Given the description of an element on the screen output the (x, y) to click on. 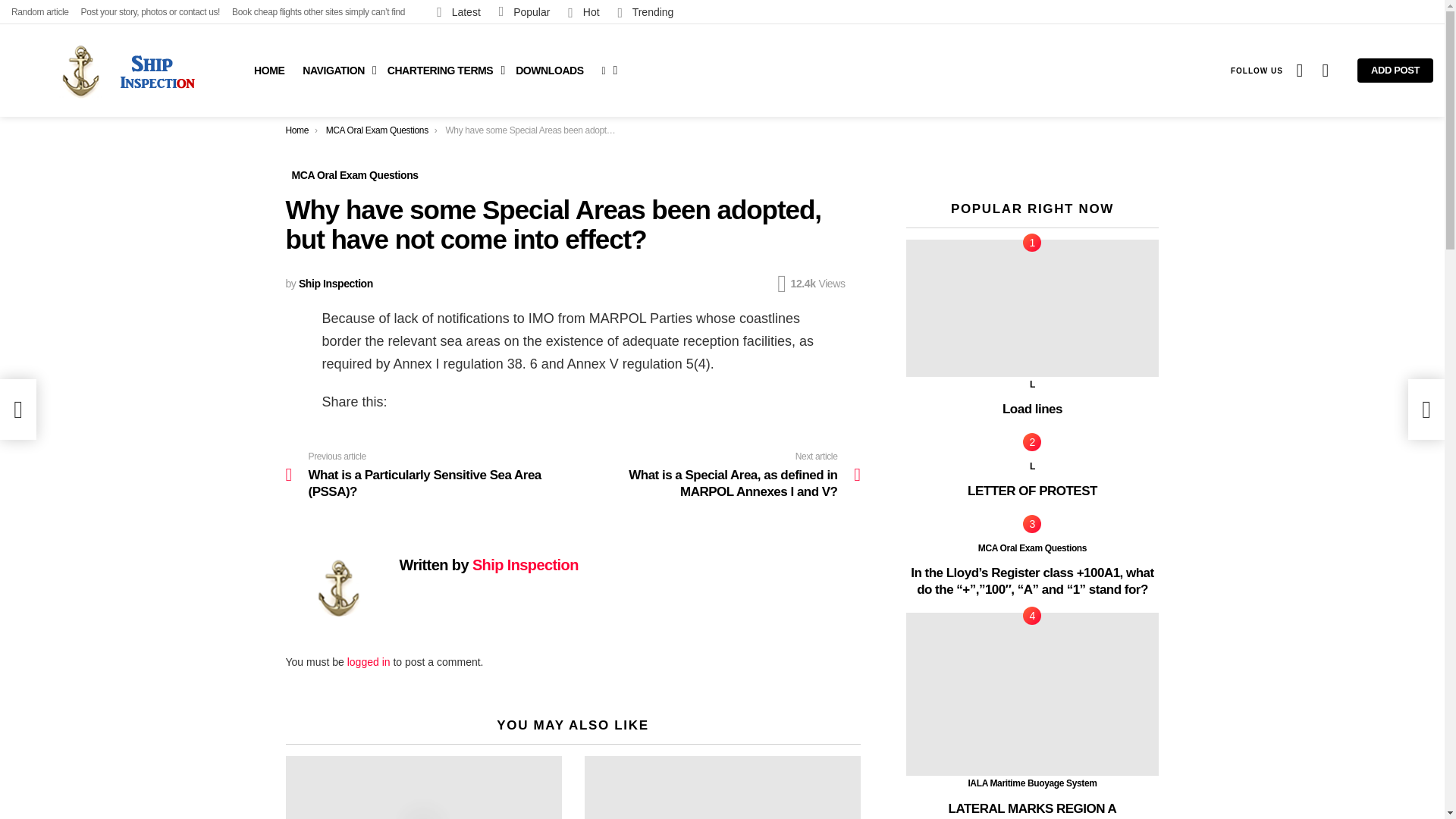
Follow us (1256, 69)
HOME (269, 69)
Posts by Ship Inspection (335, 283)
Latest (458, 11)
Post your story, photos or contact us! (151, 12)
Trending (645, 11)
Hot (583, 11)
NAVIGATION (336, 69)
Random article (39, 12)
Jigsaw puzzle (721, 787)
Popular (524, 11)
Sextant (422, 787)
CHARTERING TERMS (442, 69)
